Given the description of an element on the screen output the (x, y) to click on. 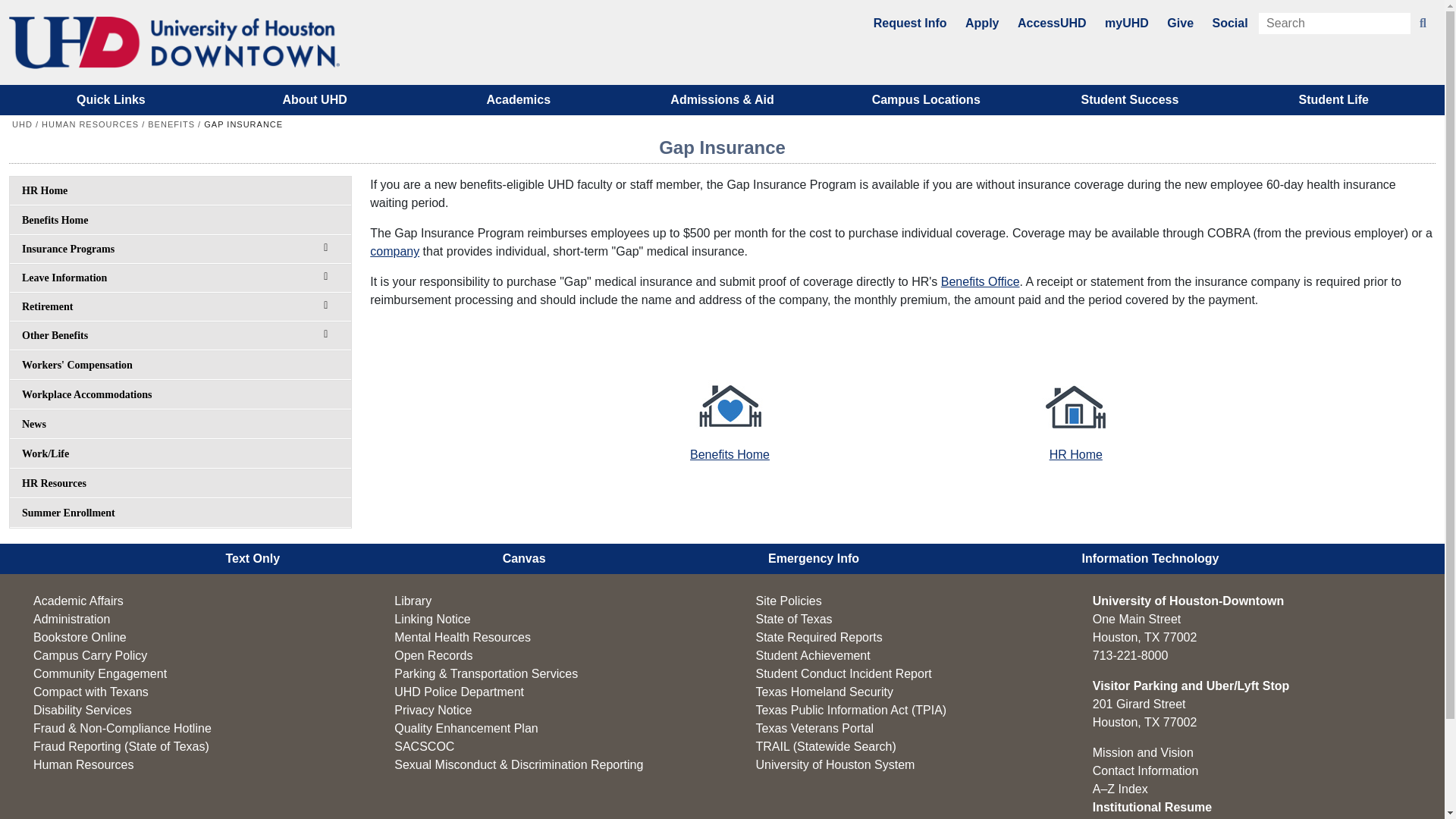
AccessUHD (1051, 22)
Request Info (910, 22)
Social (1229, 22)
Quick Links (110, 100)
Apply (981, 22)
Give (1180, 22)
myUHD (1126, 22)
submit (1422, 23)
